Given the description of an element on the screen output the (x, y) to click on. 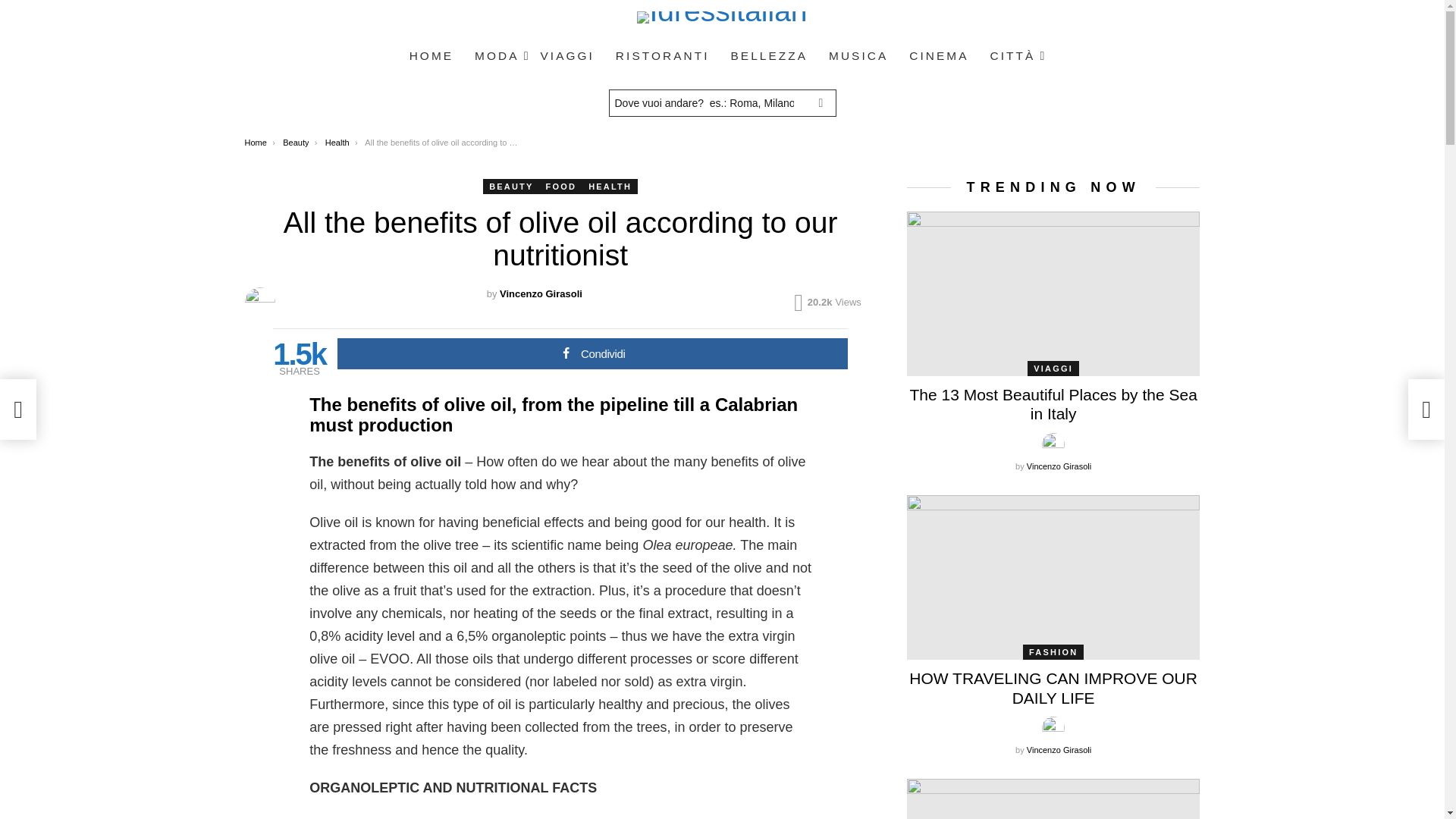
FOOD (561, 186)
Search for: (721, 103)
Health (336, 142)
HEALTH (609, 186)
MUSICA (857, 55)
Home (255, 142)
Posts by Vincenzo Girasoli (540, 293)
RISTORANTI (663, 55)
CINEMA (937, 55)
HOME (431, 55)
